Given the description of an element on the screen output the (x, y) to click on. 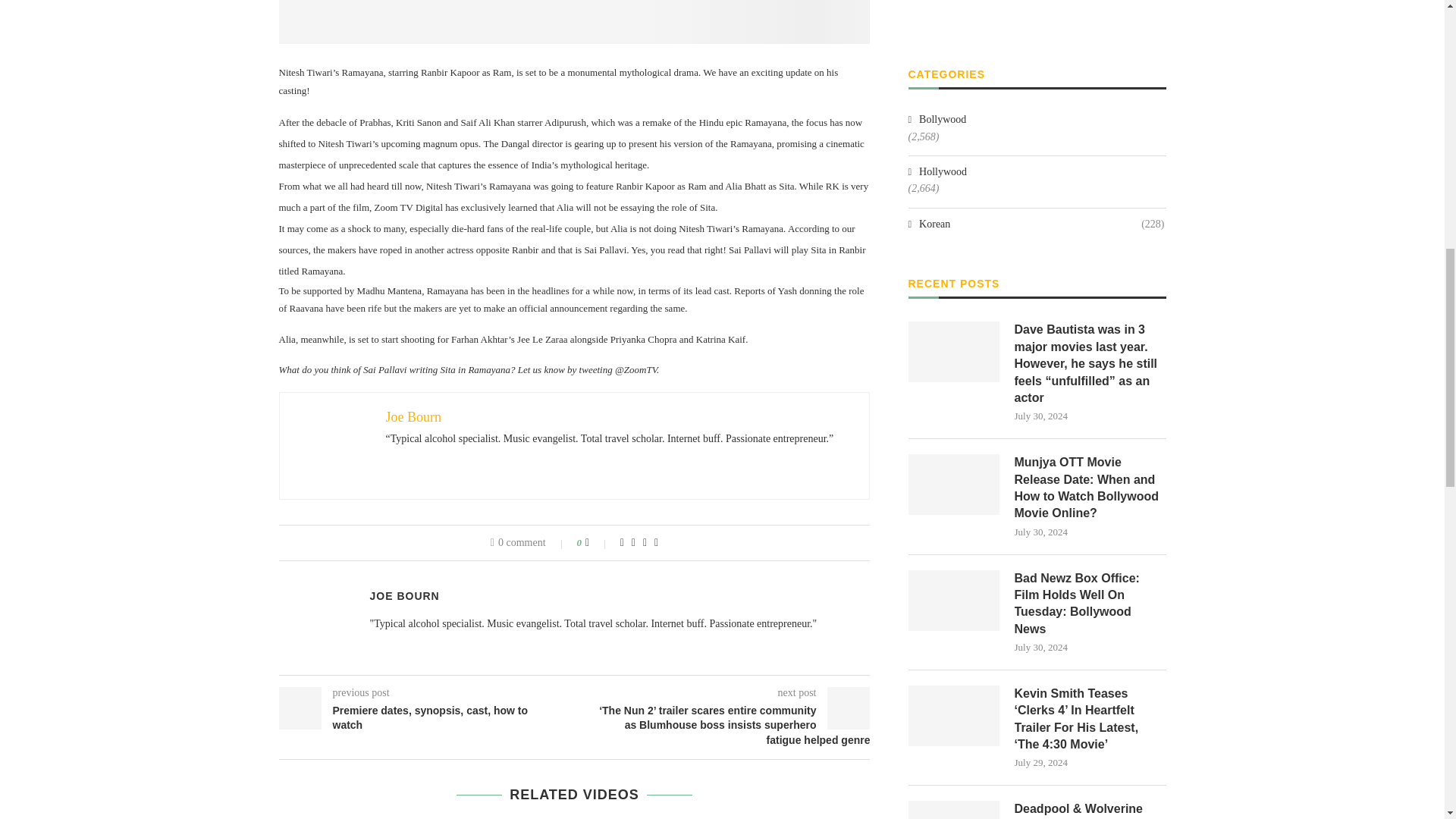
Like (597, 542)
JOE BOURN (404, 595)
Premiere dates, synopsis, cast, how to watch (427, 718)
Joe Bourn (413, 417)
Author Joe Bourn (404, 595)
